Given the description of an element on the screen output the (x, y) to click on. 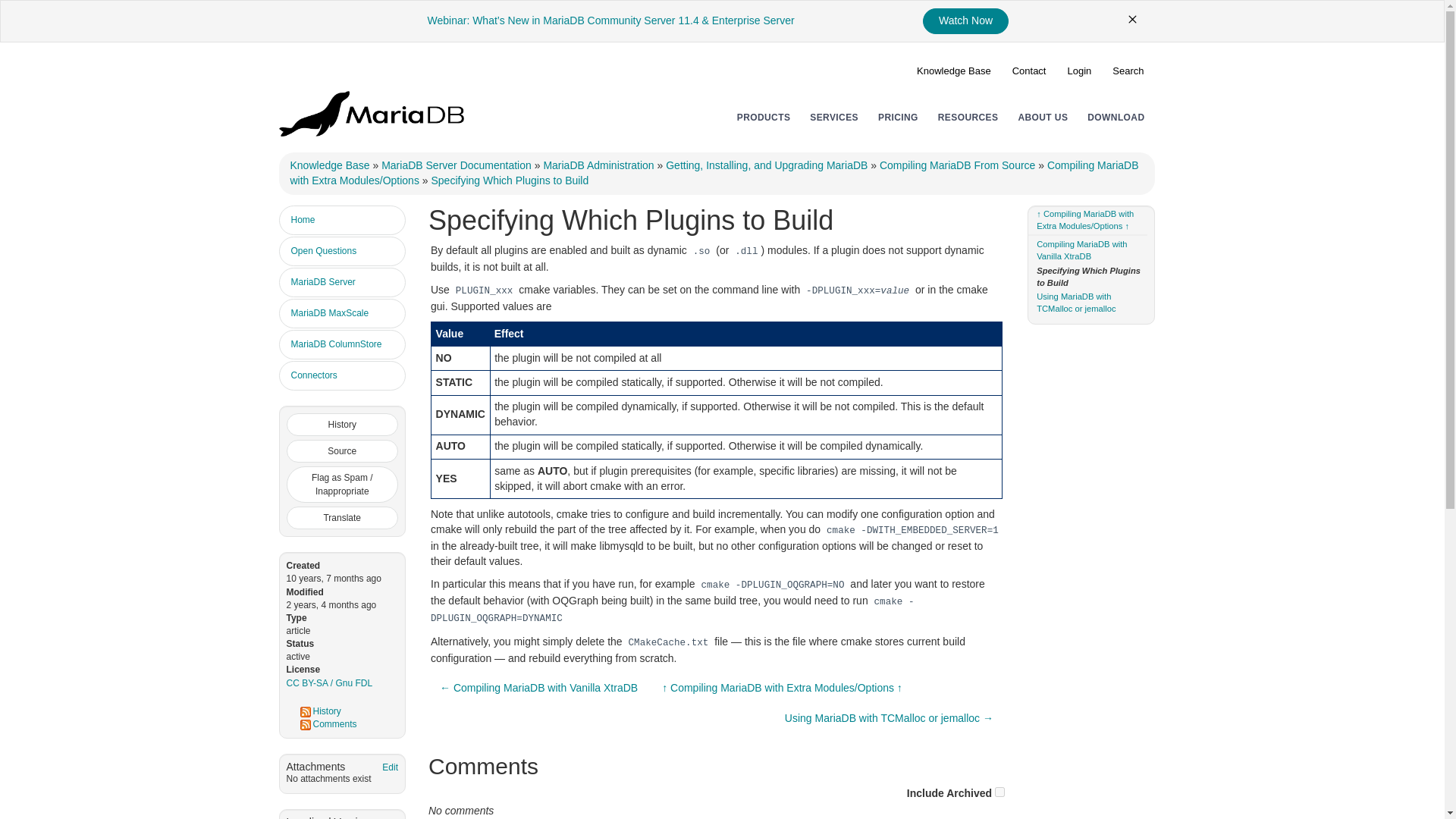
2022-03-08 10:37 (331, 604)
About Us (1042, 117)
Home (342, 219)
Specifying Which Plugins to Build (509, 180)
DOWNLOAD (1115, 117)
Products (763, 117)
Watch Now (966, 21)
SERVICES (834, 117)
MariaDB Administration (598, 164)
ABOUT US (1042, 117)
Translate (342, 517)
PRODUCTS (763, 117)
History (342, 424)
MariaDB Server Documentation (456, 164)
MariaDB Server (342, 282)
